Given the description of an element on the screen output the (x, y) to click on. 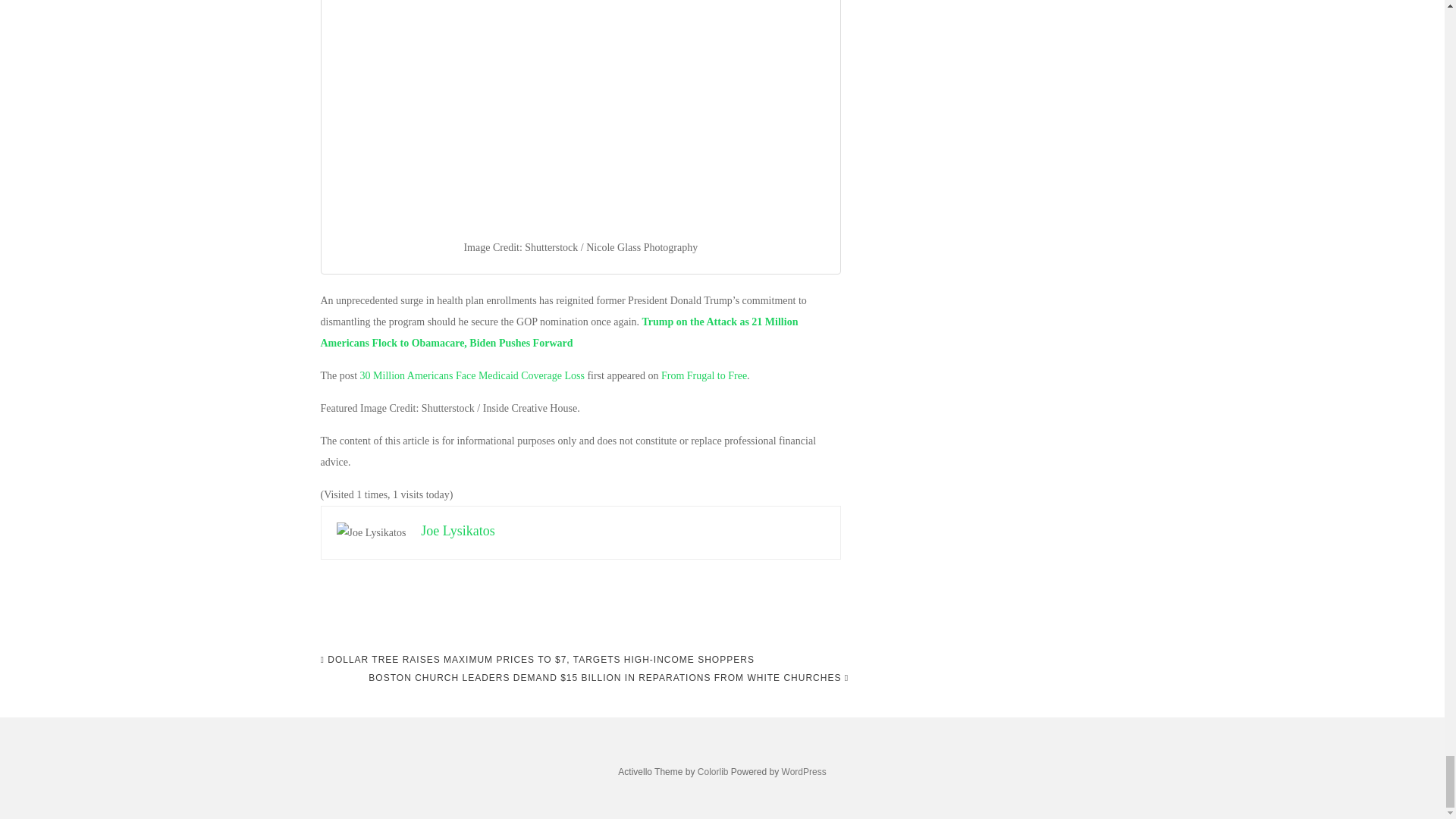
Joe Lysikatos (457, 530)
30 Million Americans Face Medicaid Coverage Loss (472, 375)
From Frugal to Free (703, 375)
